Given the description of an element on the screen output the (x, y) to click on. 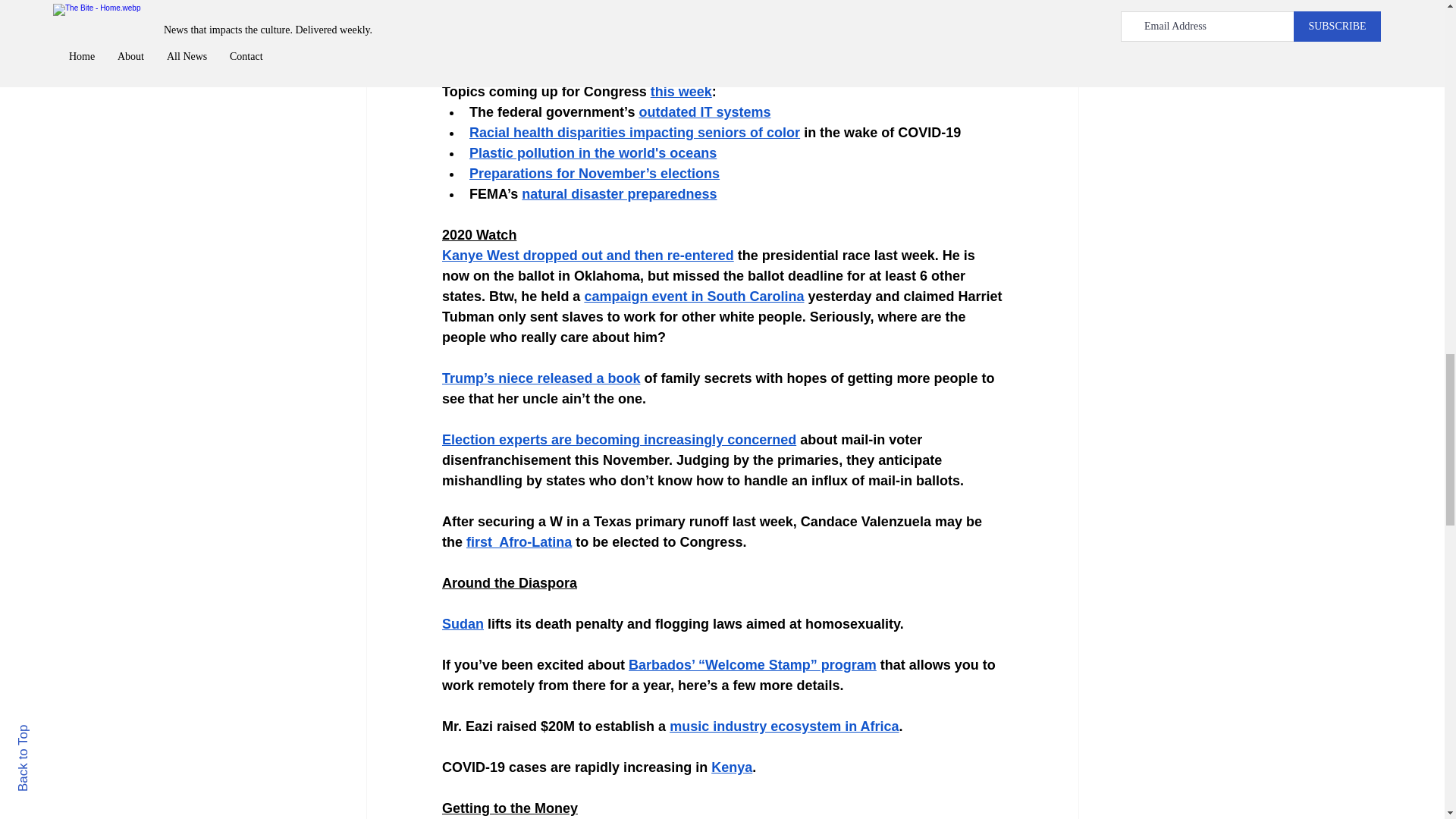
Racial health disparities impacting seniors of color (633, 132)
this week (680, 91)
outdated IT systems (704, 111)
Plastic pollution in the world's oceans (592, 152)
campaign event in South Carolina (693, 296)
Kanye West dropped out and then re-entered (587, 255)
natural disaster preparedness (618, 193)
